Given the description of an element on the screen output the (x, y) to click on. 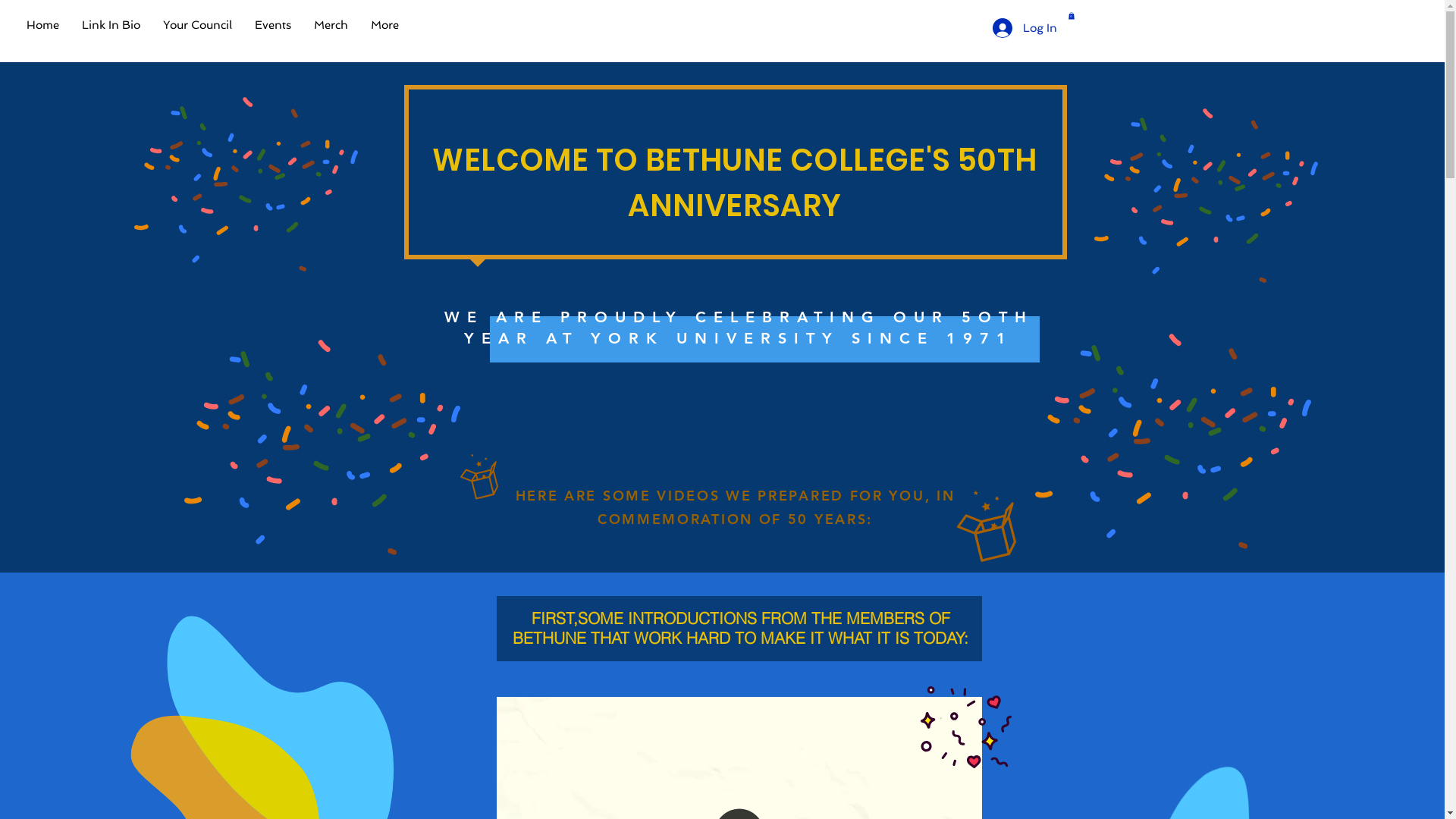
Your Council Element type: text (197, 24)
Home Element type: text (42, 24)
Events Element type: text (272, 24)
0 Element type: text (1070, 15)
Log In Element type: text (1023, 27)
Link In Bio Element type: text (110, 24)
Merch Element type: text (330, 24)
